Given the description of an element on the screen output the (x, y) to click on. 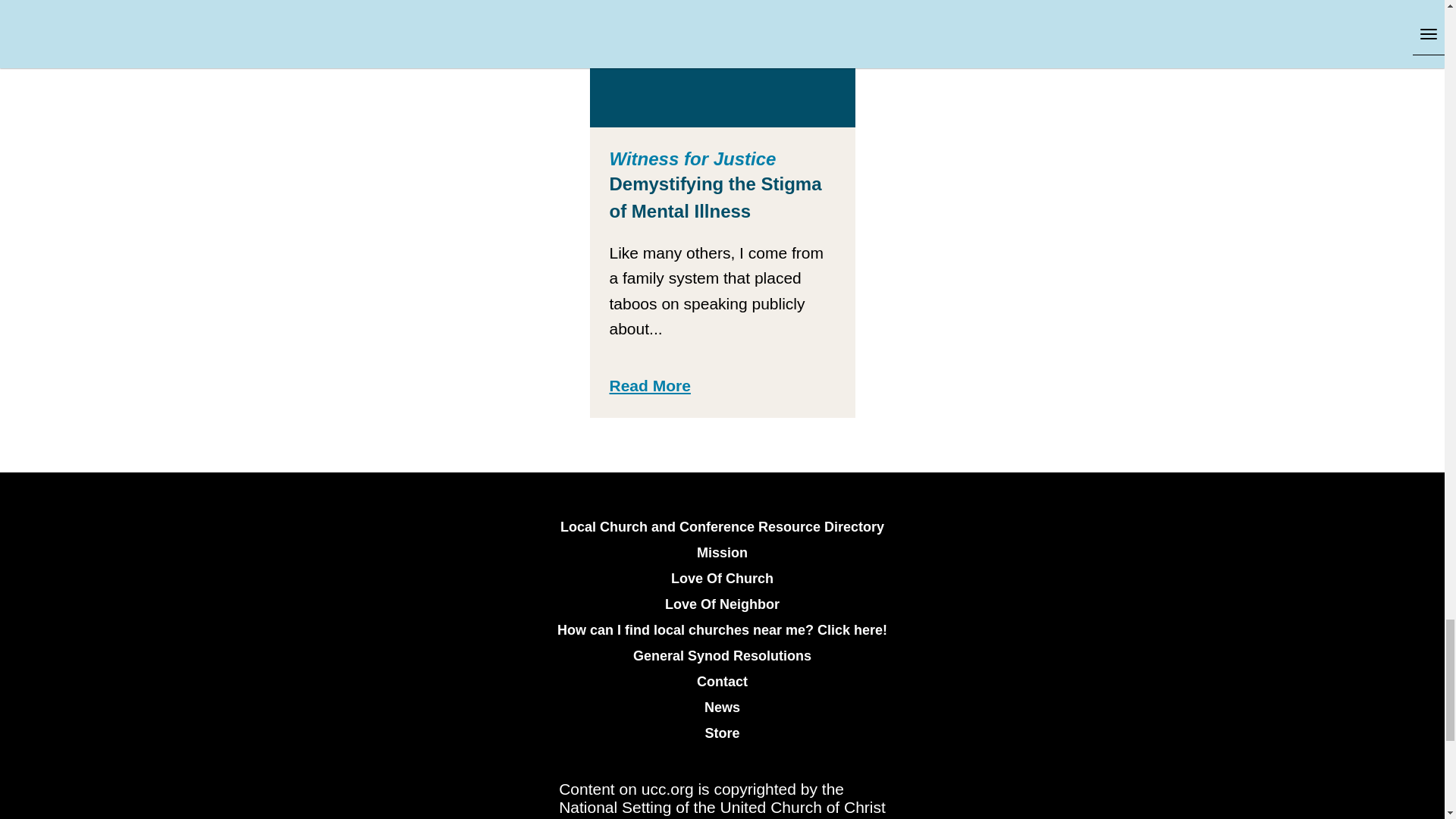
Demystifying the Stigma of Mental Illness (716, 196)
Read more of Demystifying the Stigma of Mental Illness (650, 384)
Demystifying the Stigma of Mental Illness (722, 63)
